Given the description of an element on the screen output the (x, y) to click on. 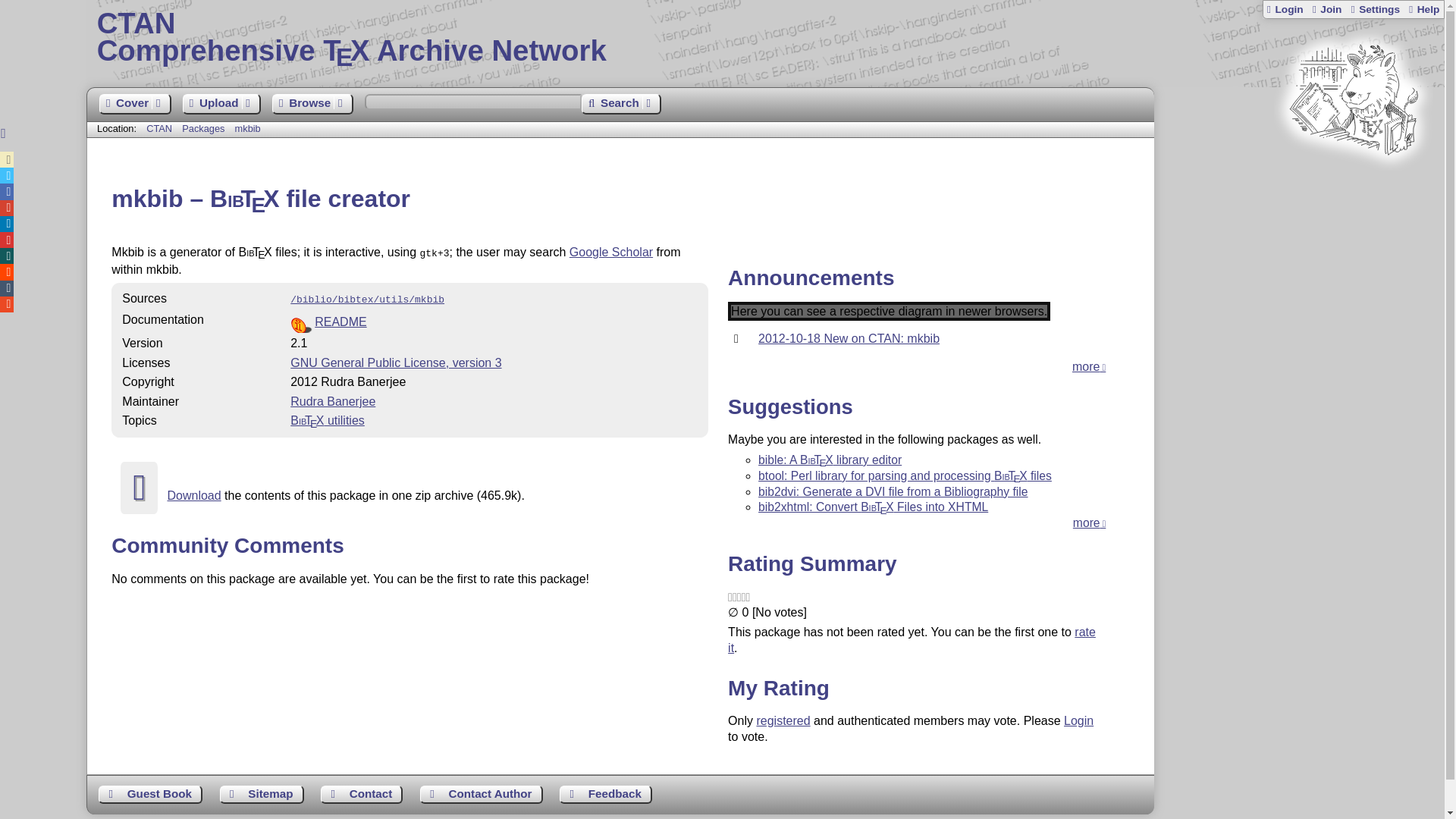
Search (620, 104)
Rudra Banerjee (332, 400)
Spectrum indicating the announcements for the package (888, 311)
Register a new personal account on this site (1325, 8)
BibTEX utilities (327, 420)
Cover (765, 37)
GNU General Public License, version 3 (134, 104)
Show the structure of this site (394, 362)
Send feedback on the current web page to the Web masters (261, 794)
